Given the description of an element on the screen output the (x, y) to click on. 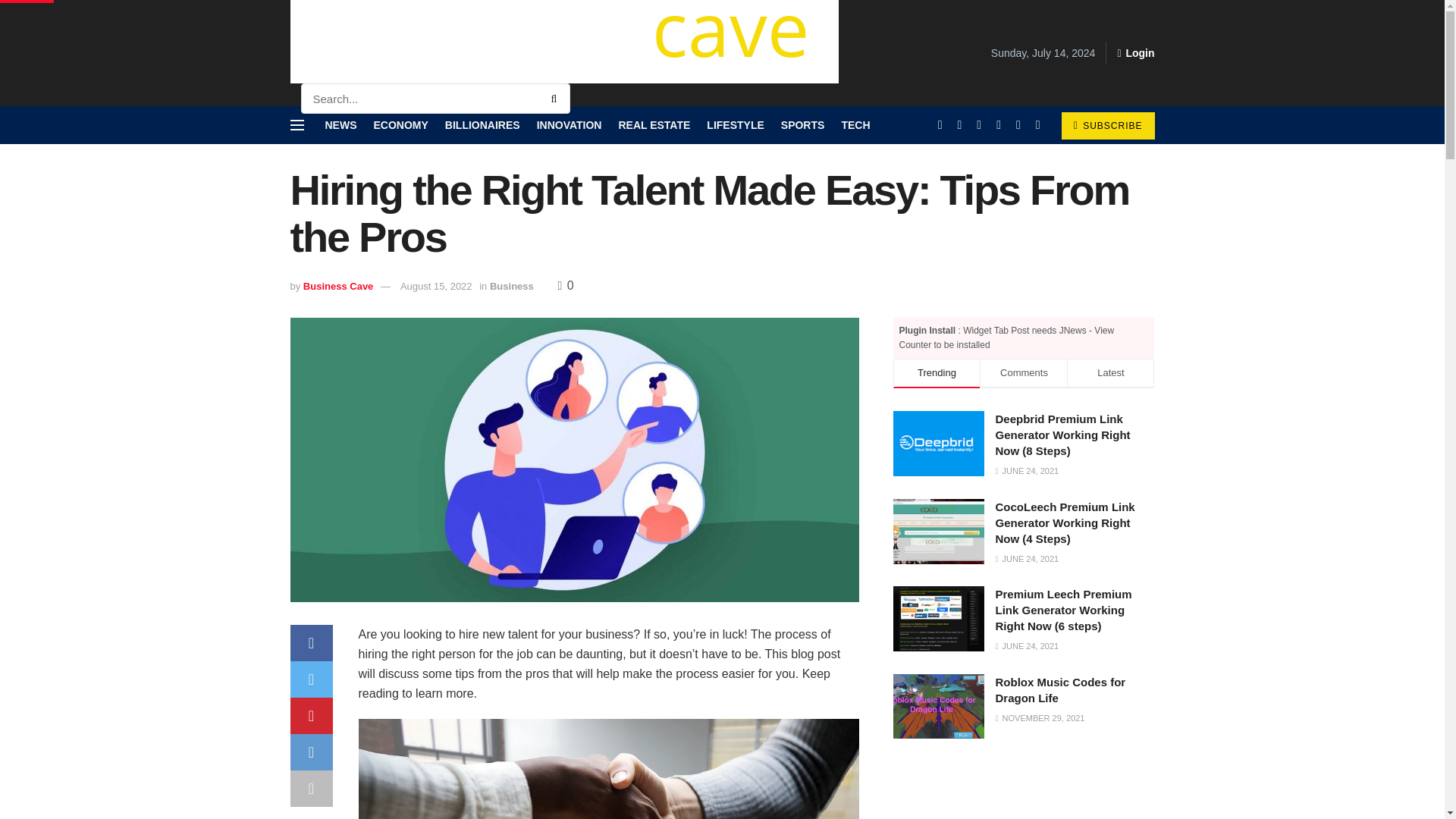
SUBSCRIBE (1107, 125)
ECONOMY (400, 125)
SPORTS (802, 125)
BILLIONAIRES (482, 125)
LIFESTYLE (734, 125)
REAL ESTATE (653, 125)
Login (1135, 53)
August 15, 2022 (435, 285)
Business Cave (338, 285)
Business (511, 285)
INNOVATION (569, 125)
0 (565, 285)
